Given the description of an element on the screen output the (x, y) to click on. 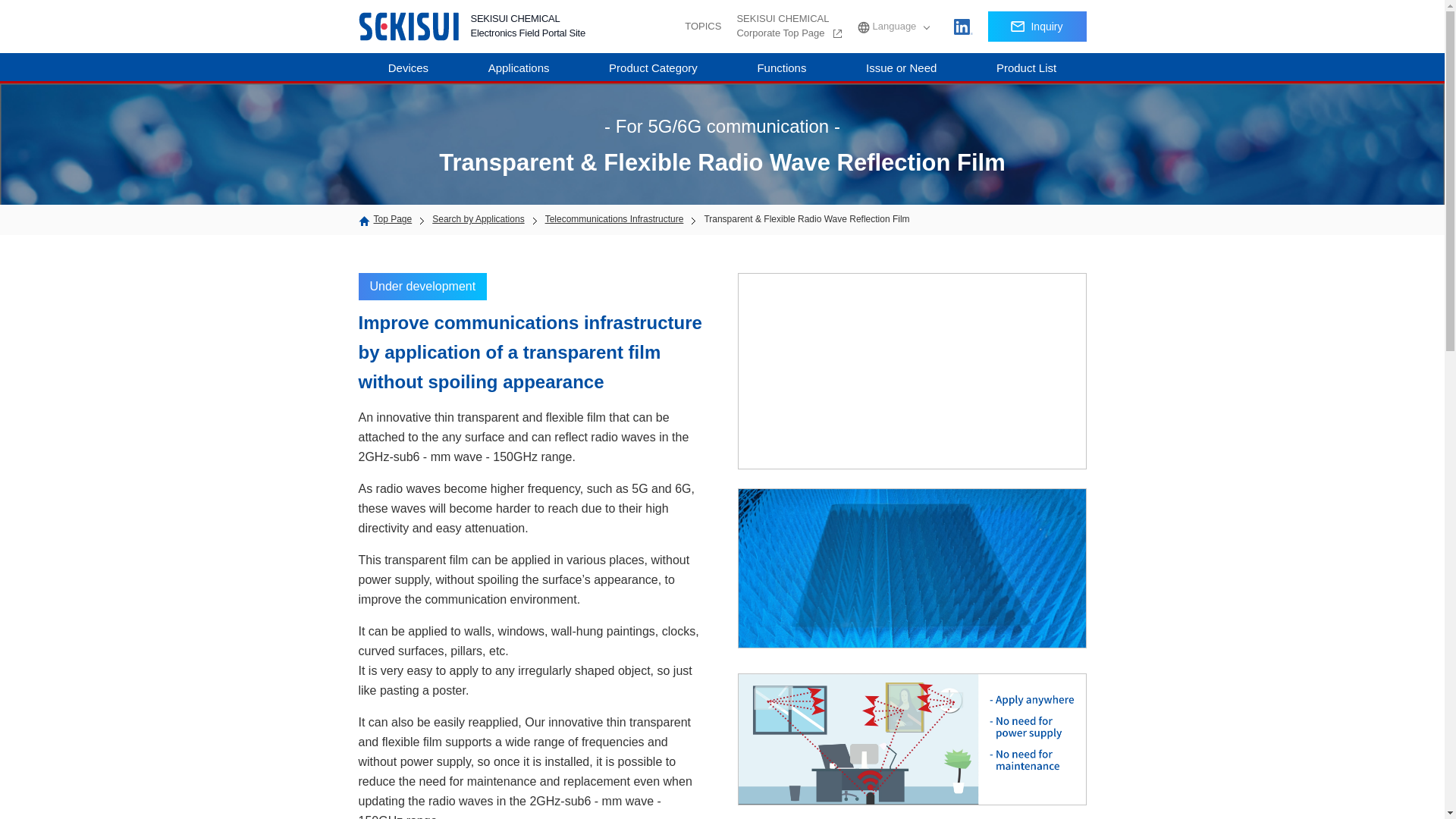
TOPICS (702, 26)
Inquiry (1036, 26)
Functions (780, 68)
Devices (408, 68)
Applications (788, 26)
Product Category (518, 68)
